Given the description of an element on the screen output the (x, y) to click on. 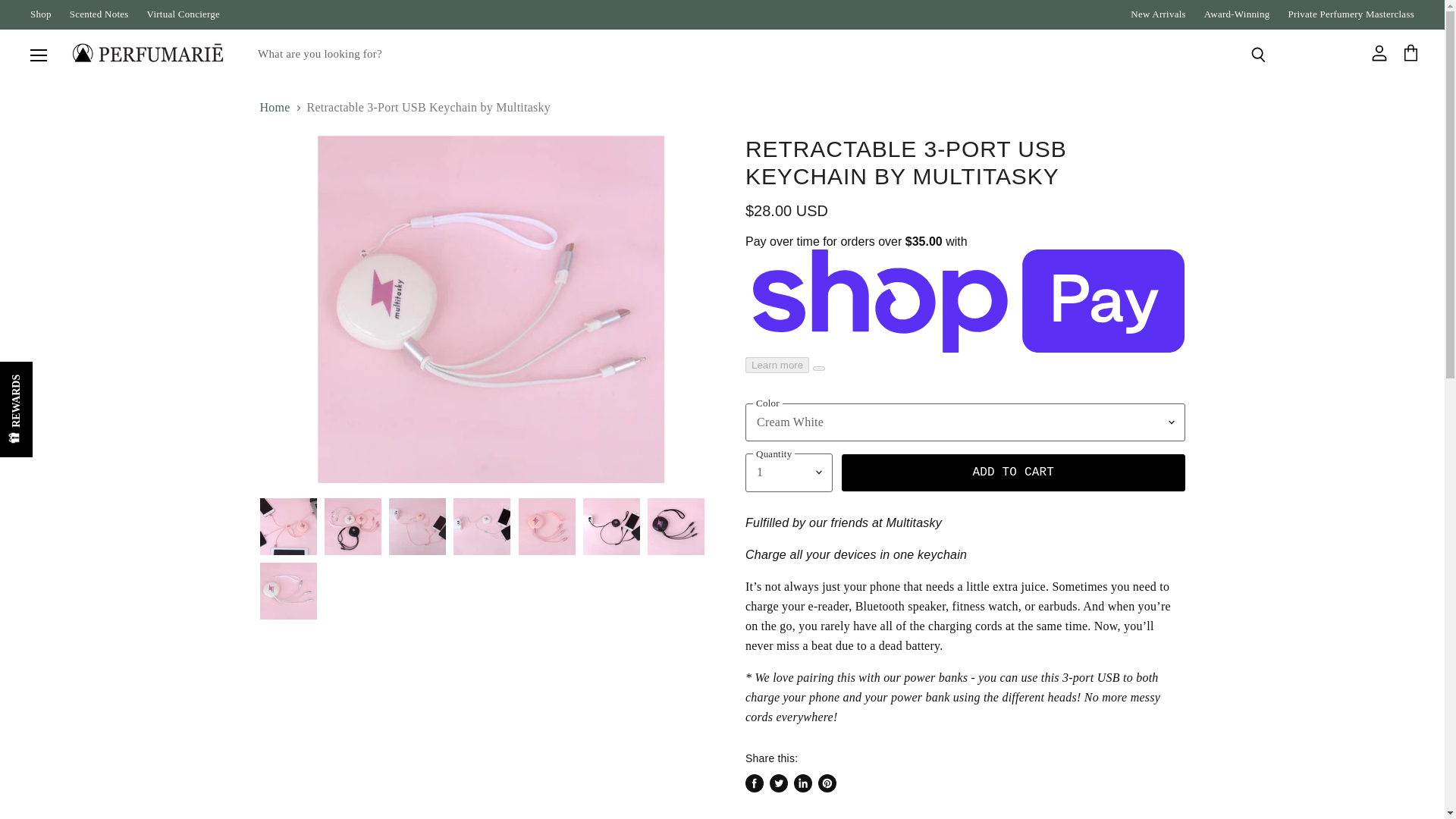
Private Perfumery Masterclass (1350, 14)
Menu (39, 54)
Virtual Concierge (184, 14)
Award-Winning (1236, 14)
Shop (40, 14)
Scented Notes (99, 14)
New Arrivals (1158, 14)
